Given the description of an element on the screen output the (x, y) to click on. 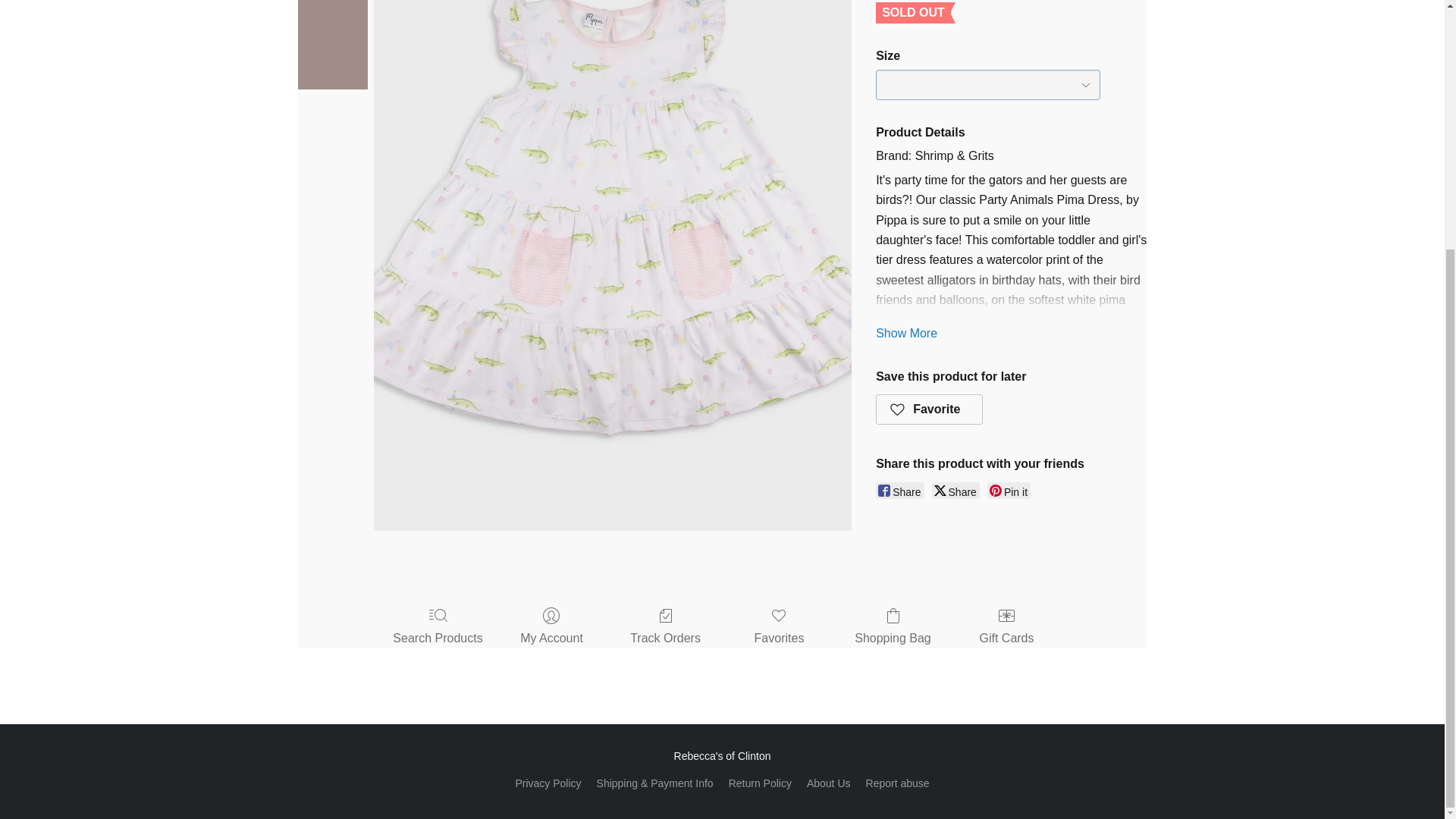
My Account (551, 627)
Pin it (1008, 490)
Favorites (779, 627)
Search Products (437, 627)
Show More (906, 332)
Share (955, 490)
Favorite (929, 409)
Shopping Bag (893, 627)
Track Orders (665, 627)
Gift Cards (1006, 627)
Share (899, 490)
